Given the description of an element on the screen output the (x, y) to click on. 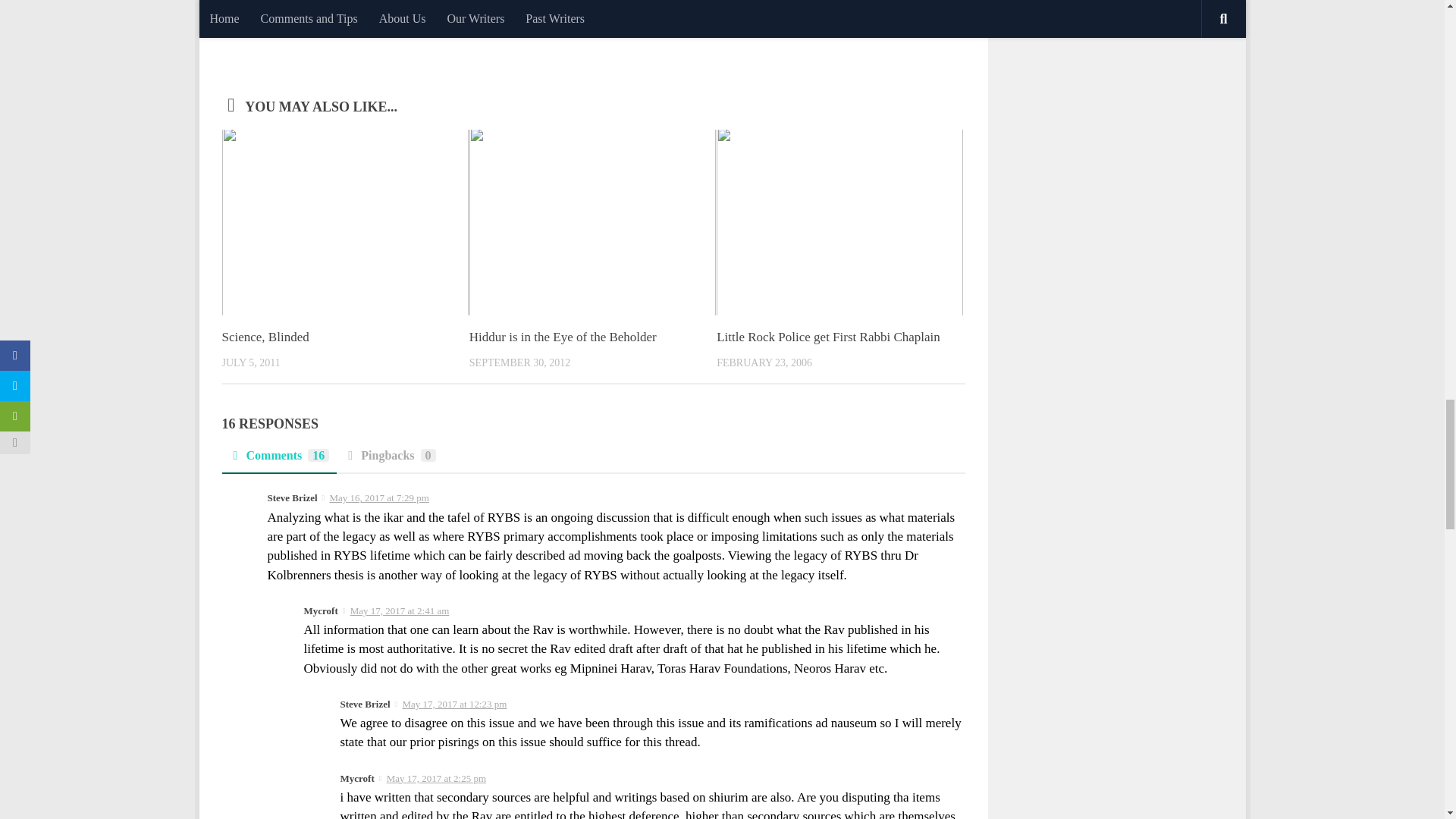
Comments16 (278, 460)
Little Rock Police get First Rabbi Chaplain (828, 336)
May 16, 2017 at 7:29 pm (378, 497)
Hiddur is in the Eye of the Beholder (562, 336)
May 17, 2017 at 2:41 am (399, 610)
Science, Blinded (264, 336)
Pingbacks0 (389, 460)
May 17, 2017 at 12:23 pm (453, 704)
